Given the description of an element on the screen output the (x, y) to click on. 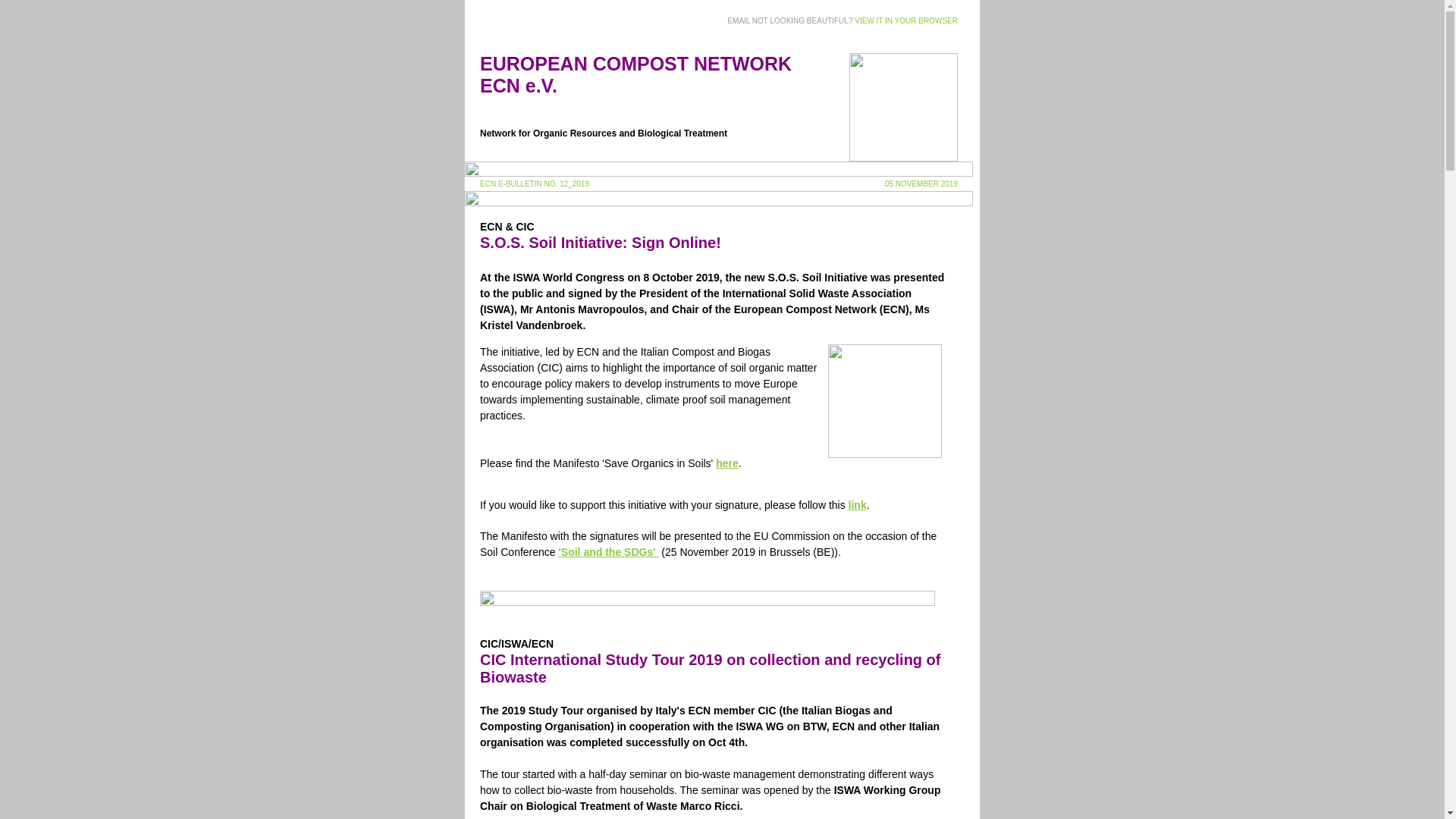
VIEW IT IN YOUR BROWSER (906, 20)
link (857, 504)
'Soil and the SDGs'  (609, 551)
here (727, 463)
